Given the description of an element on the screen output the (x, y) to click on. 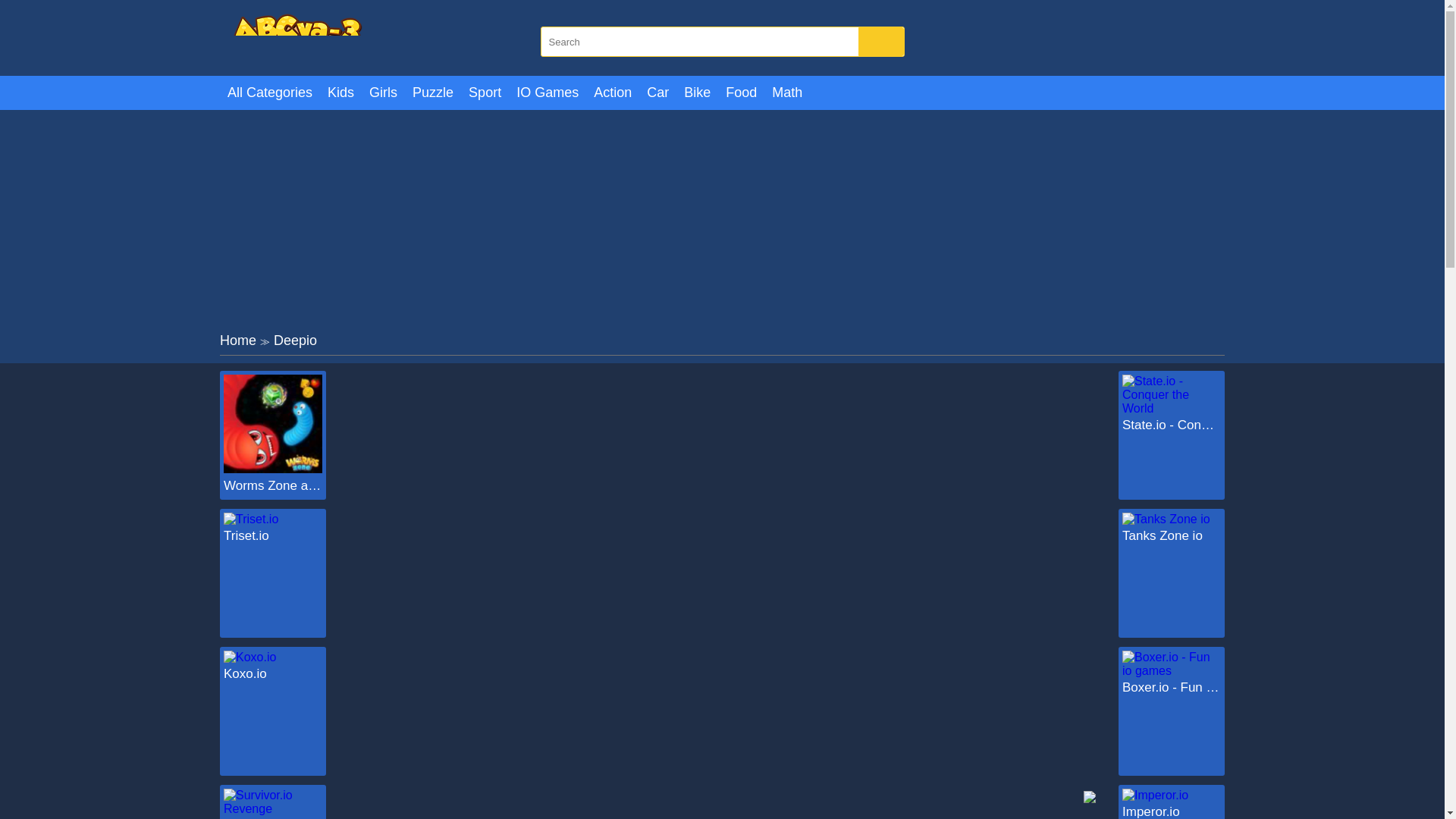
Girls (382, 92)
Koxo.io (272, 673)
Triset.io (272, 535)
Food (740, 92)
State.io - Conquer the World (1171, 425)
Sport (484, 92)
Action (612, 92)
Worms Zone a Slithery Snake (272, 468)
Triset.io (272, 535)
Tanks Zone io (1171, 535)
Math (786, 92)
Puzzle (432, 92)
Kids (340, 92)
Sport (484, 92)
Triset.io (251, 518)
